Given the description of an element on the screen output the (x, y) to click on. 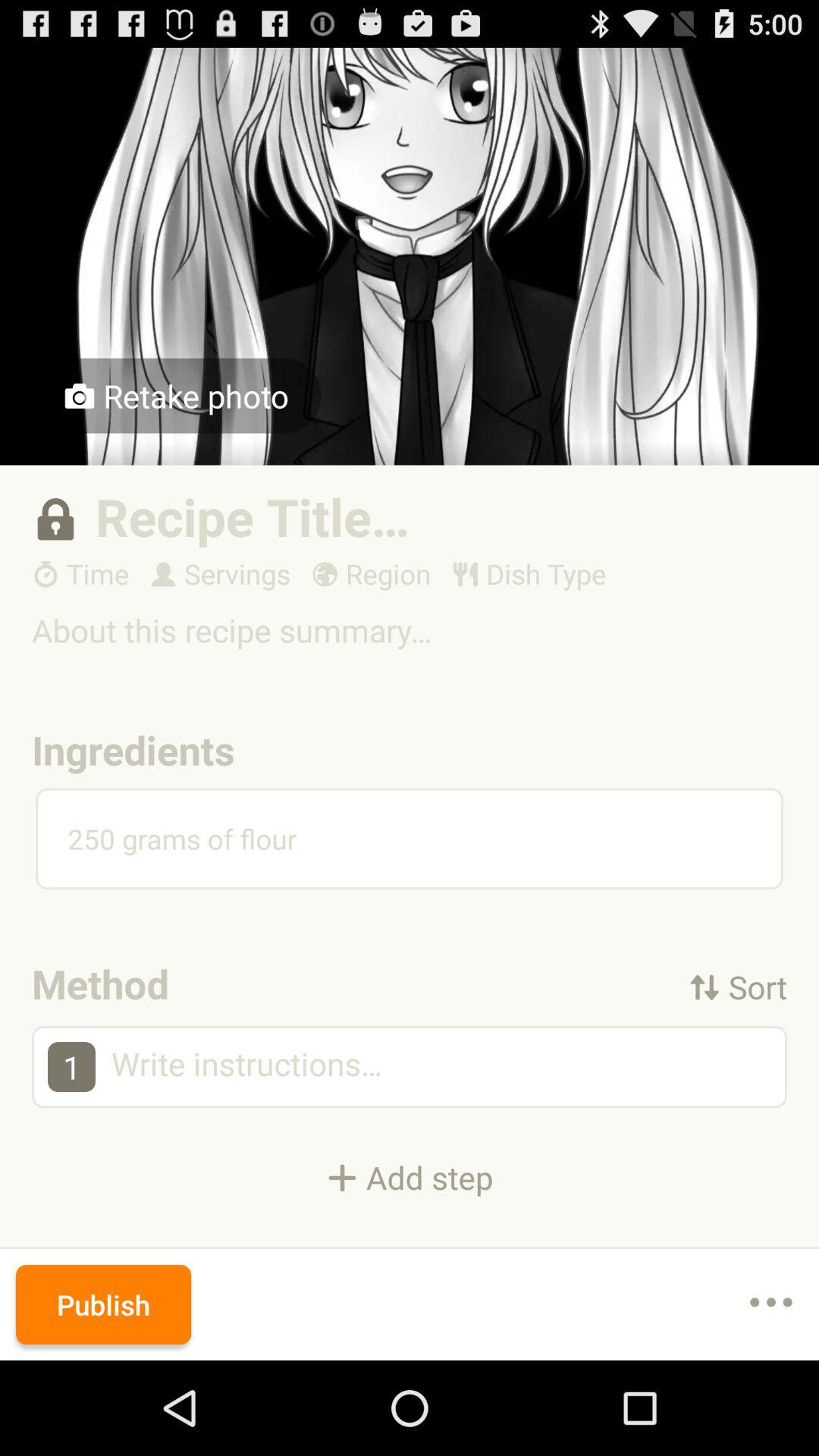
launch the icon next to the publish icon (771, 1304)
